Given the description of an element on the screen output the (x, y) to click on. 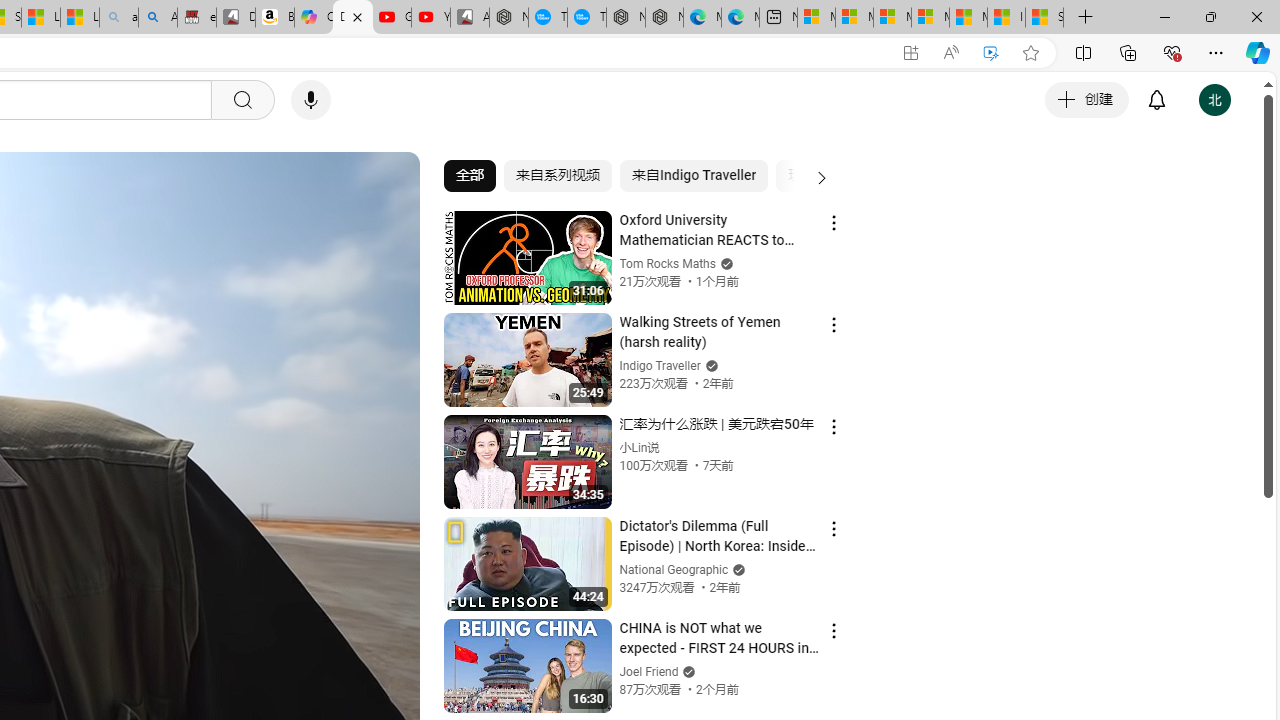
The most popular Google 'how to' searches (586, 17)
Copilot (313, 17)
